Given the description of an element on the screen output the (x, y) to click on. 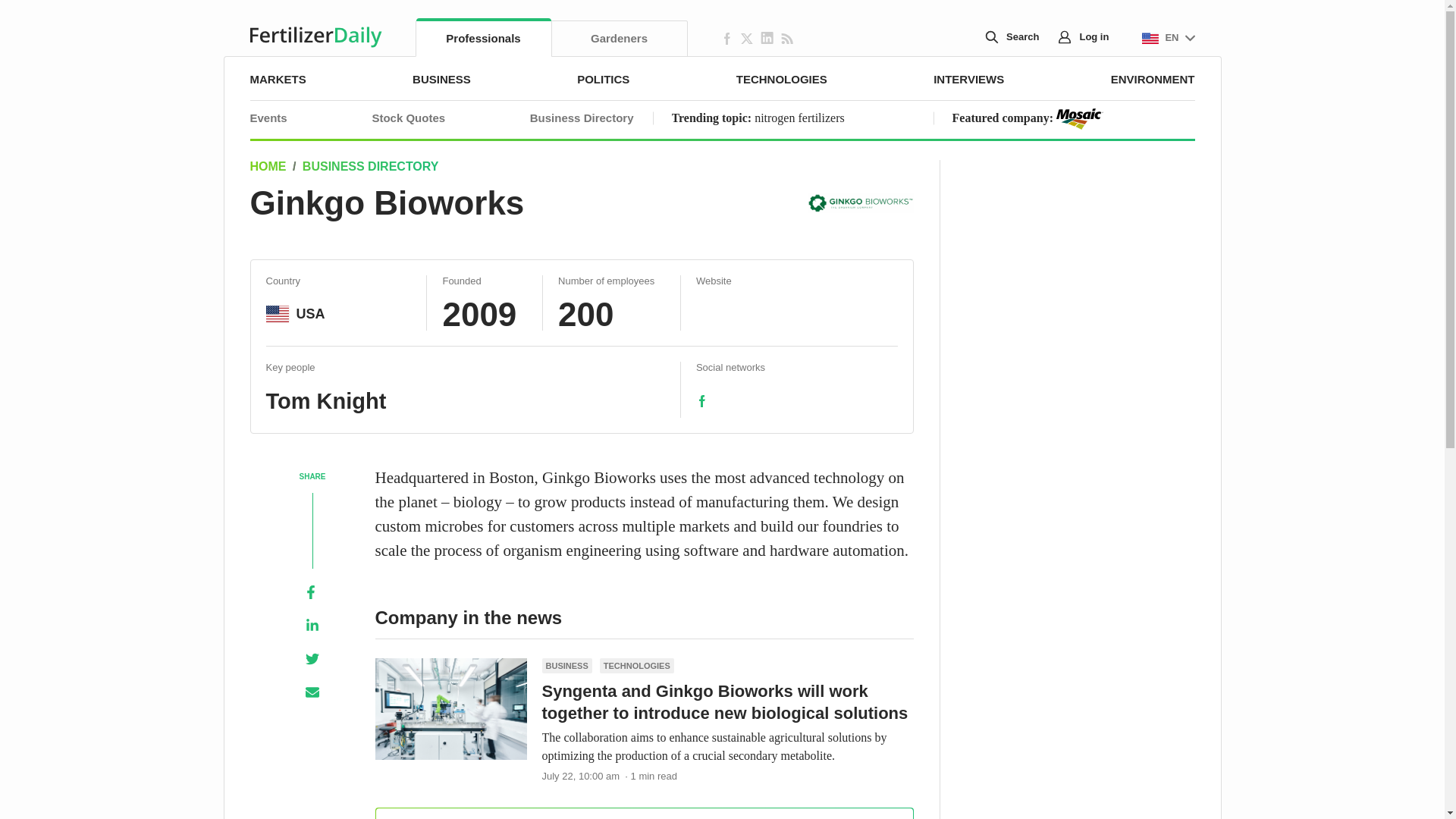
ENVIRONMENT (1152, 78)
BUSINESS (441, 78)
TECHNOLOGIES (781, 78)
MARKETS (277, 78)
Business Directory (581, 117)
POLITICS (602, 78)
INTERVIEWS (968, 78)
More stories (643, 813)
Stock Quotes (408, 117)
Professionals (482, 38)
